Given the description of an element on the screen output the (x, y) to click on. 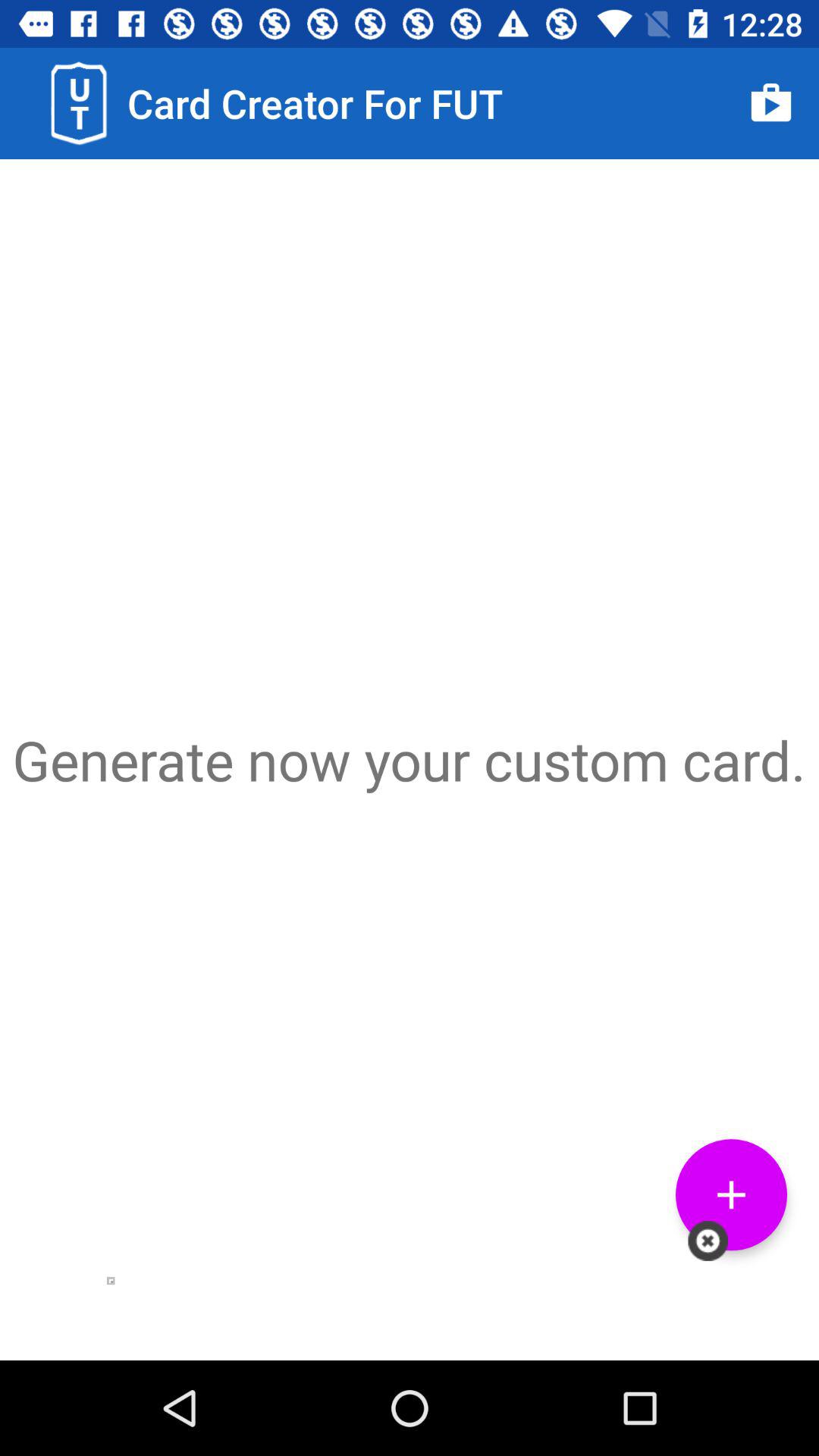
turn on the icon at the top right corner (771, 103)
